Given the description of an element on the screen output the (x, y) to click on. 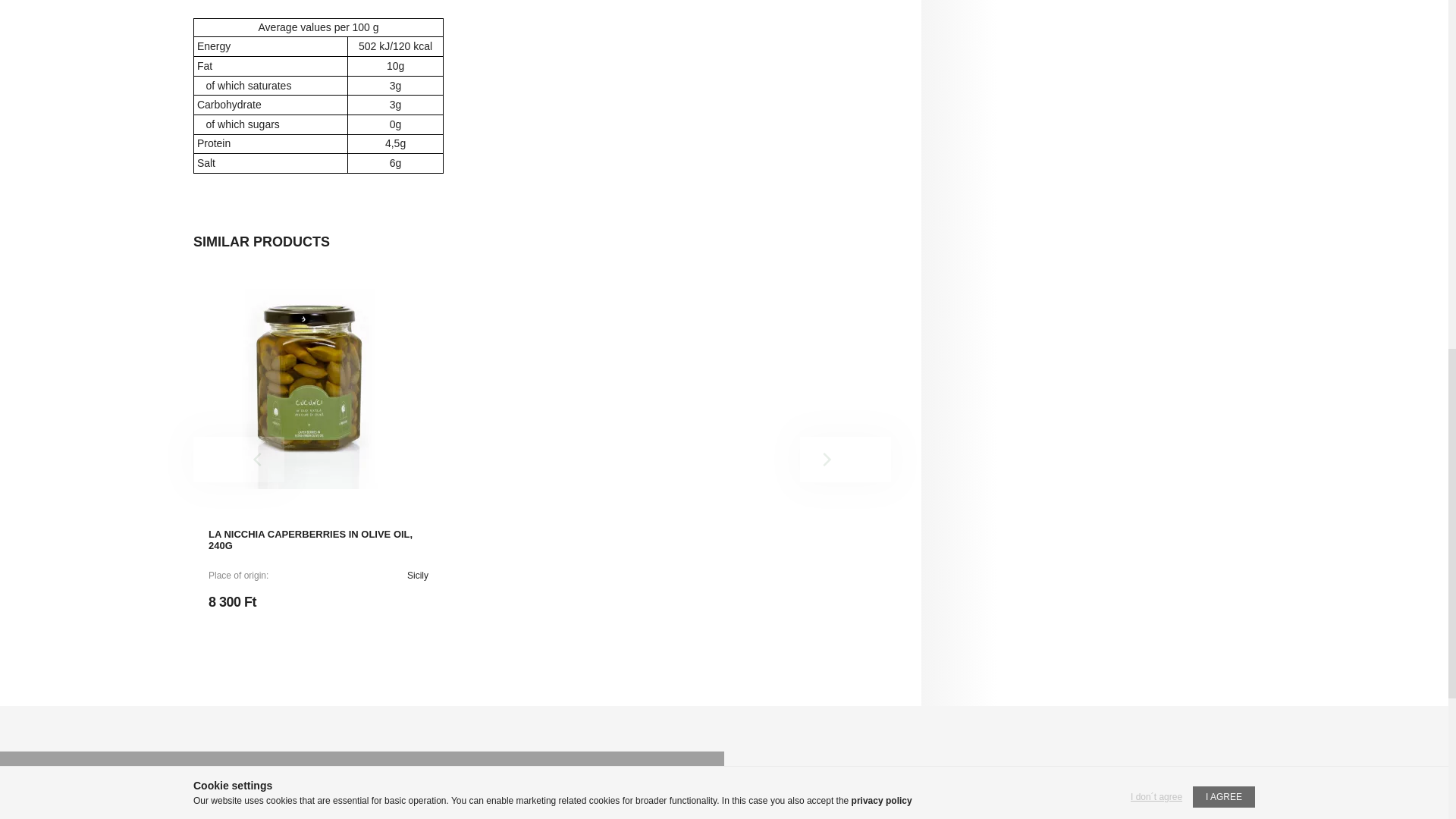
La Nicchia Caperberries in olive oil, 240g (308, 388)
